Given the description of an element on the screen output the (x, y) to click on. 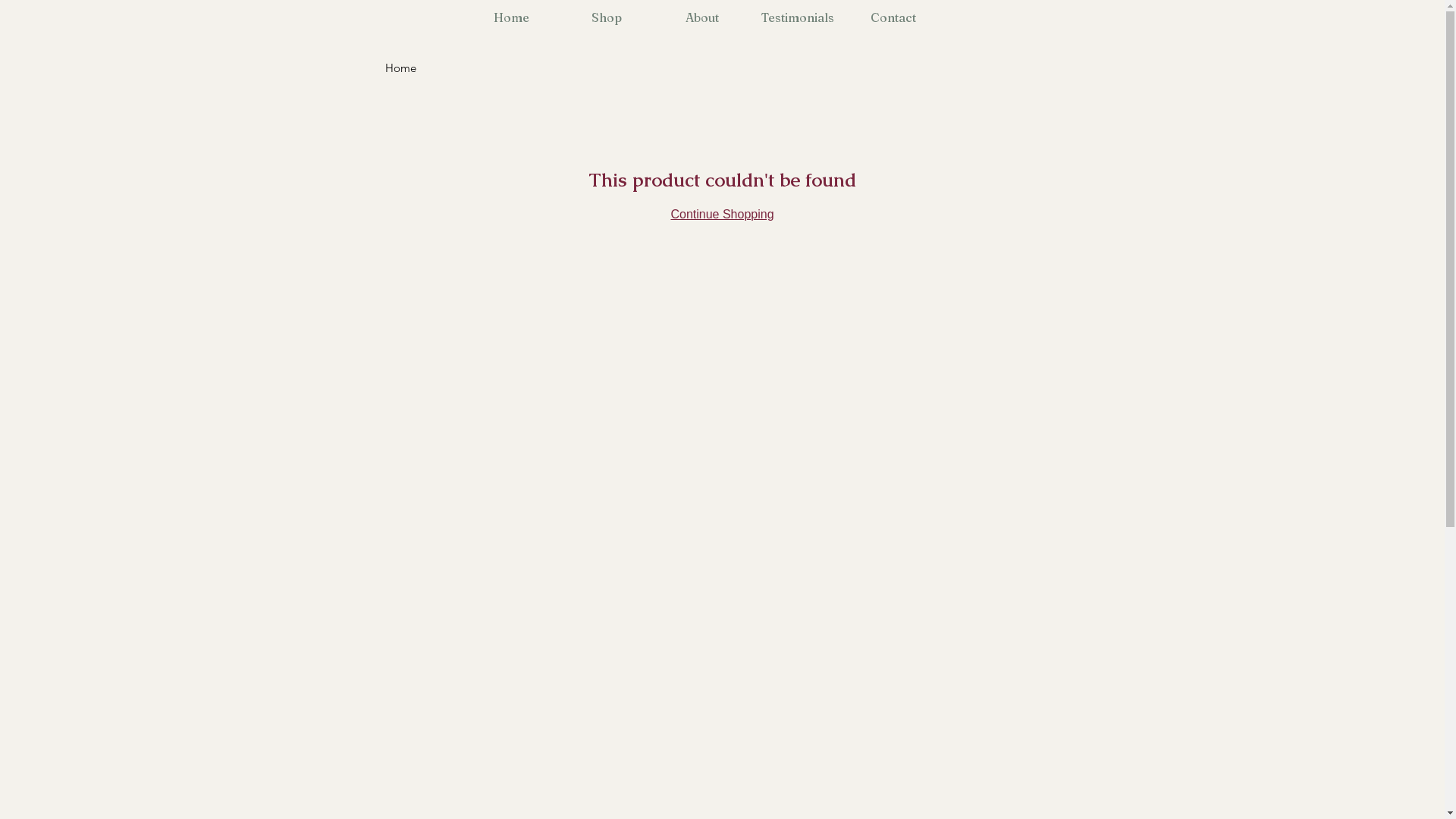
Shop Element type: text (606, 17)
Contact Element type: text (893, 17)
Continue Shopping Element type: text (721, 213)
Testimonials Element type: text (797, 17)
Home Element type: text (510, 17)
About Element type: text (701, 17)
Home Element type: text (400, 67)
